Given the description of an element on the screen output the (x, y) to click on. 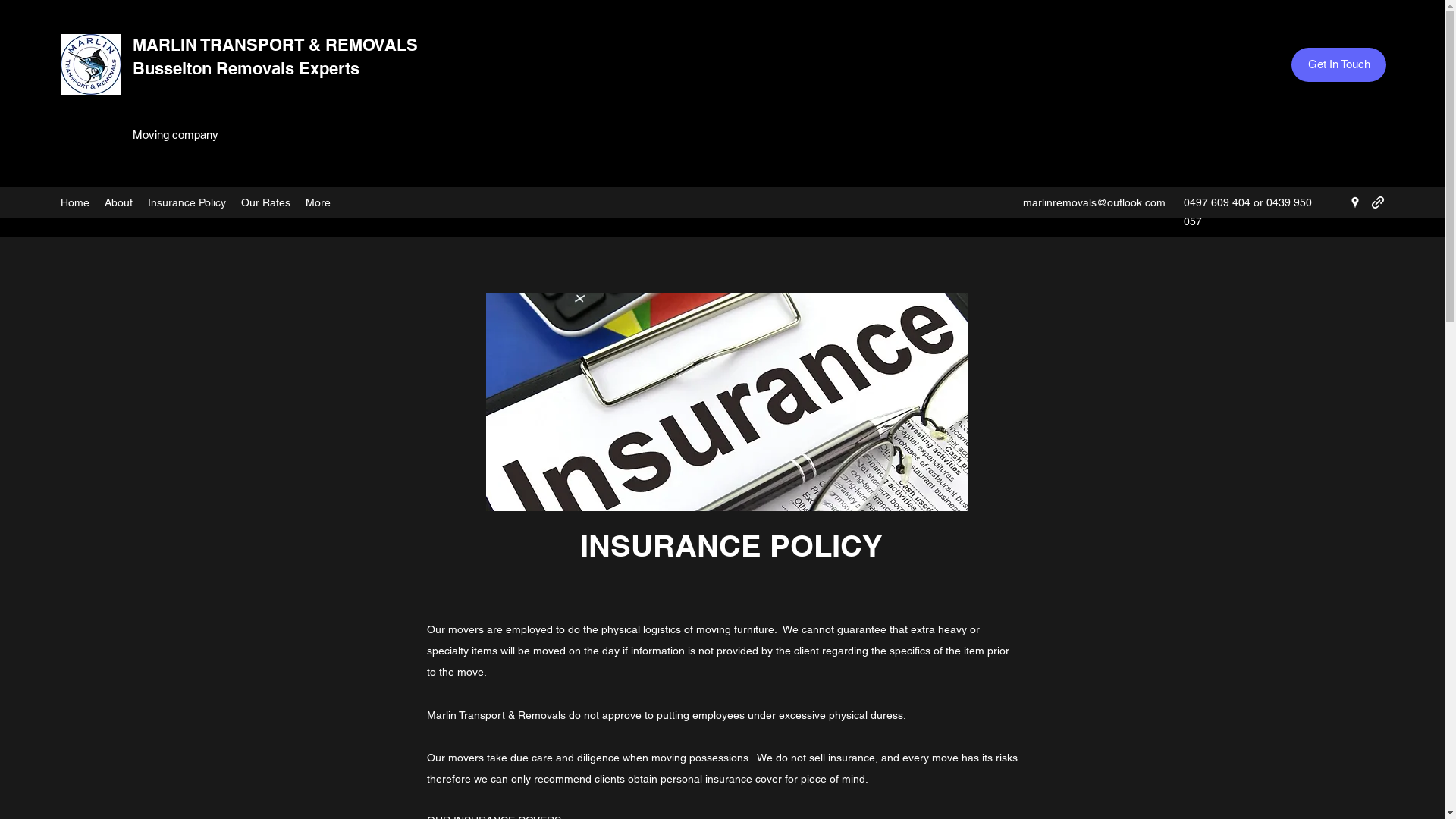
Insurance Policy Element type: text (186, 202)
Our Rates Element type: text (265, 202)
Home Element type: text (75, 202)
Get In Touch Element type: text (1338, 64)
About Element type: text (118, 202)
insuranc.jpg Element type: hover (726, 401)
marlinremovals@outlook.com Element type: text (1093, 202)
MARLIN TRANSPORT & REMOVALS Element type: text (274, 44)
